Given the description of an element on the screen output the (x, y) to click on. 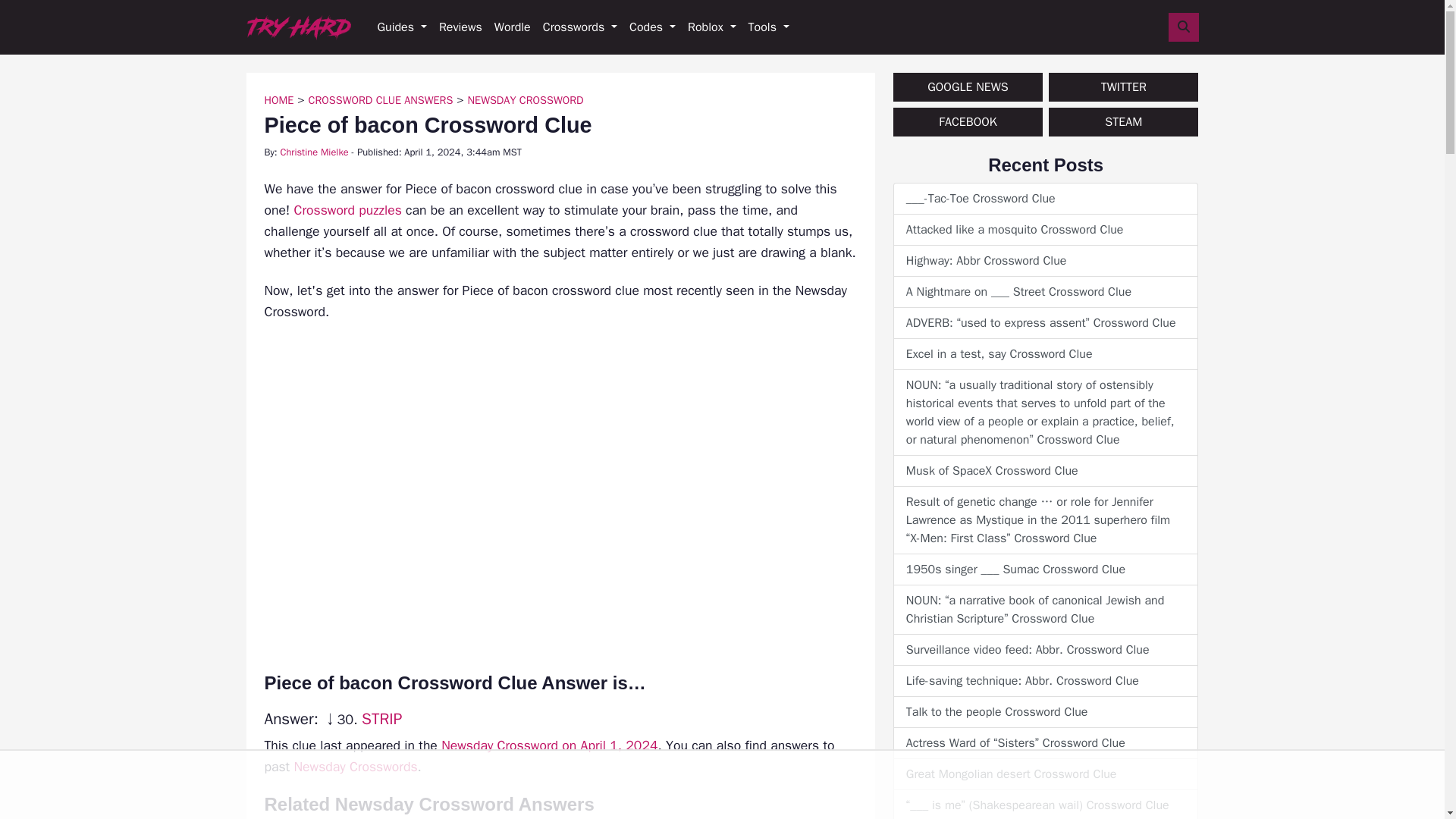
Try Hard Guides (298, 27)
Wordle (512, 27)
Crosswords (580, 27)
Reviews (459, 27)
Roblox (711, 27)
Guides (401, 27)
Codes (652, 27)
